Given the description of an element on the screen output the (x, y) to click on. 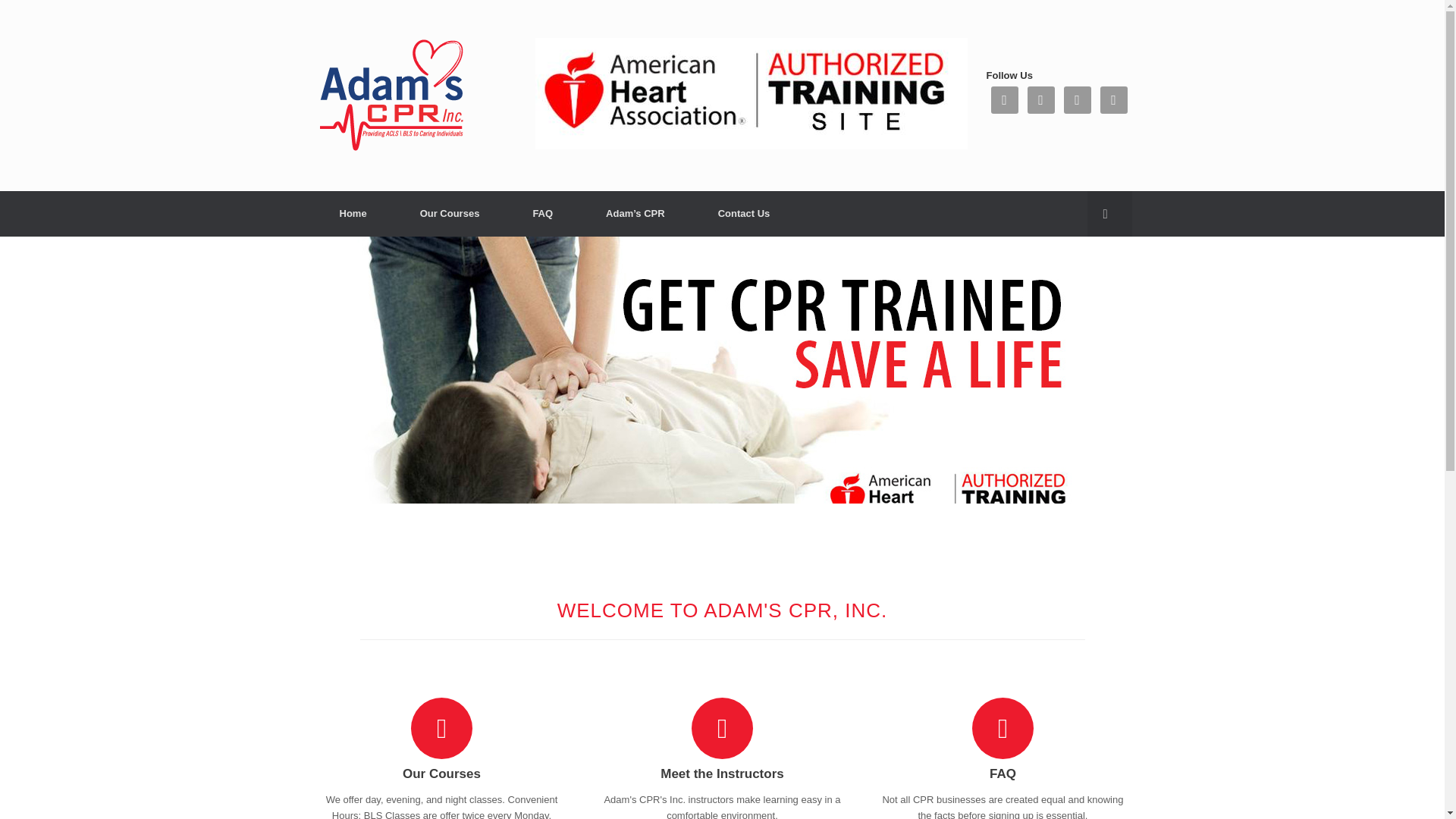
FAQ (542, 213)
Our Courses (449, 213)
Adams CPR Dallas (353, 213)
Contact Us (743, 213)
Contact Adams CPR (743, 213)
Home (353, 213)
Meet the Instructors (721, 774)
Our Courses (442, 774)
Adam's CPR Inc. (388, 95)
CPR Courses (449, 213)
